Given the description of an element on the screen output the (x, y) to click on. 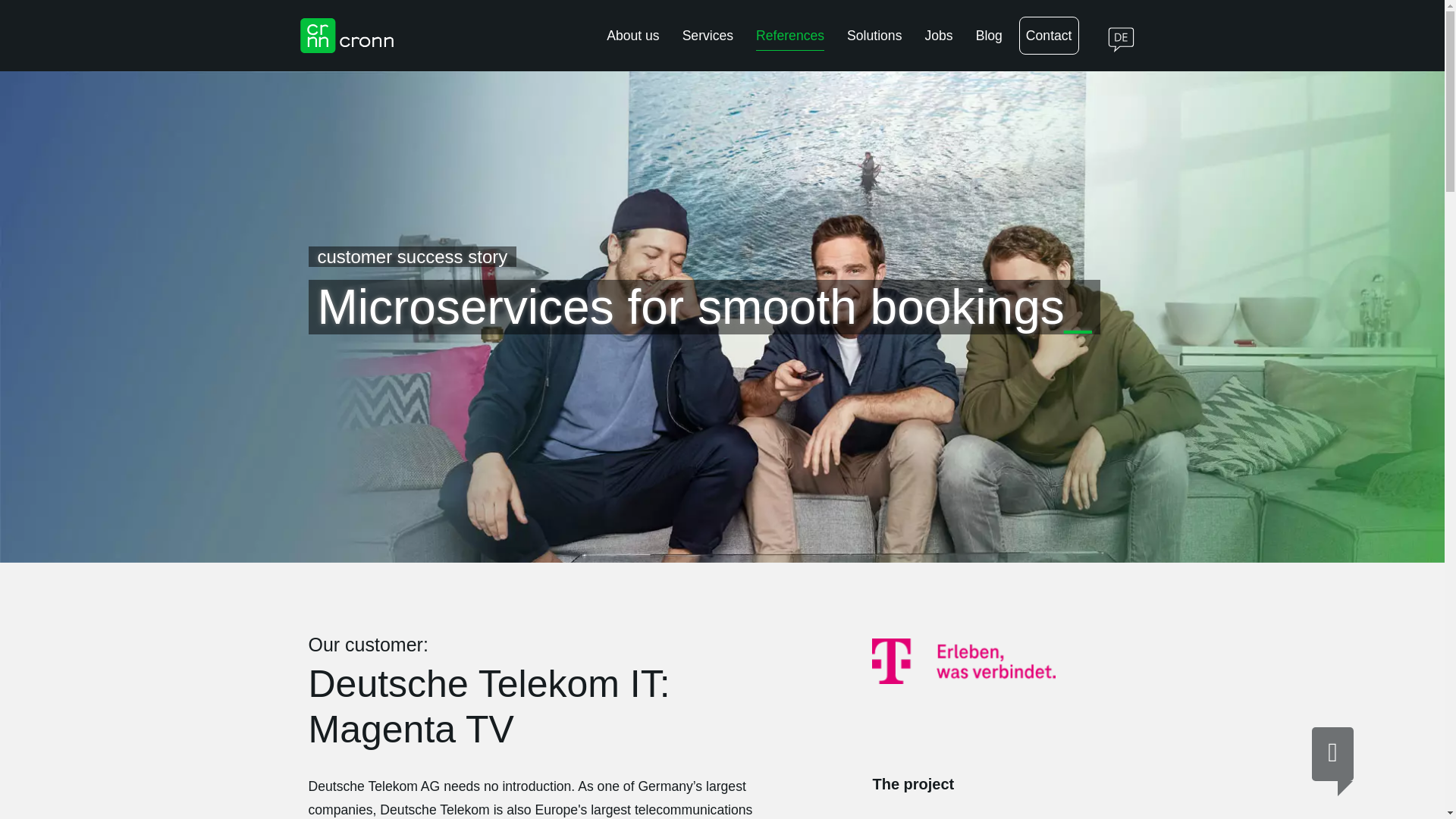
About us (632, 35)
References (789, 35)
Jobs (938, 35)
Umschalten auf Deutsch (1114, 35)
Blog (989, 35)
References (789, 35)
Solutions (874, 35)
Solutions (874, 35)
Contact (1048, 35)
Services (708, 35)
